Given the description of an element on the screen output the (x, y) to click on. 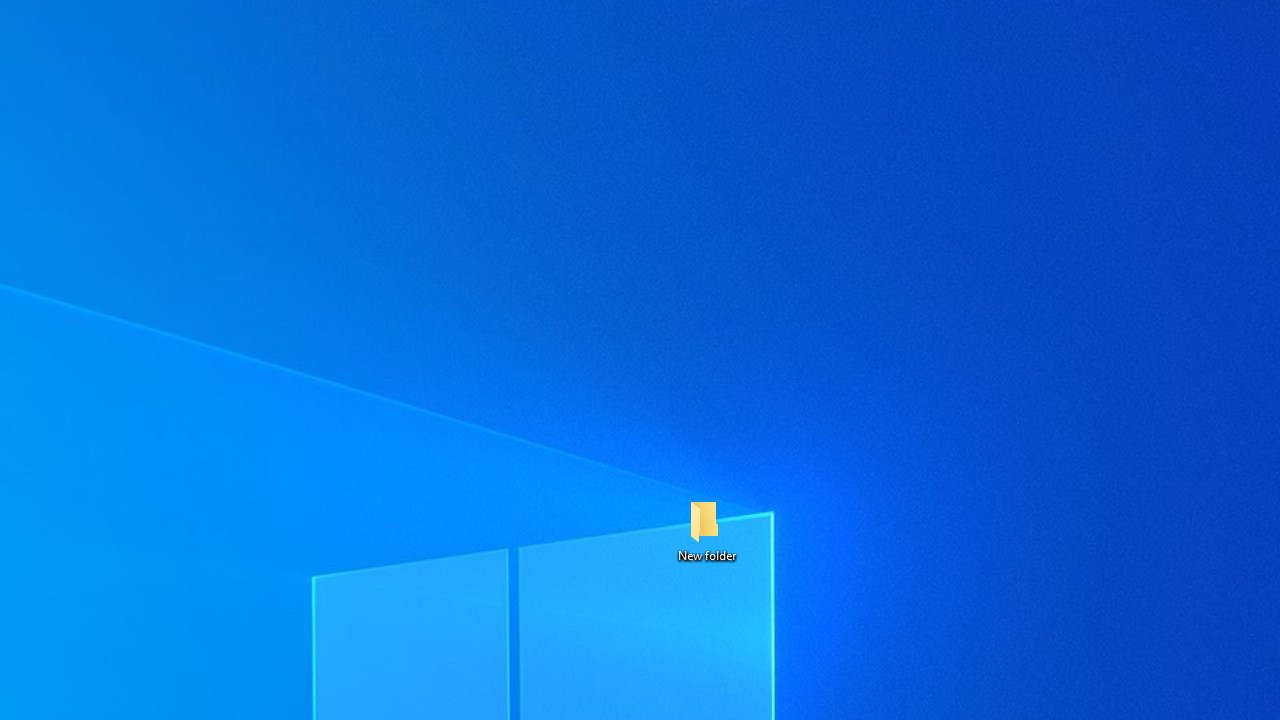
New folder (706, 530)
